Given the description of an element on the screen output the (x, y) to click on. 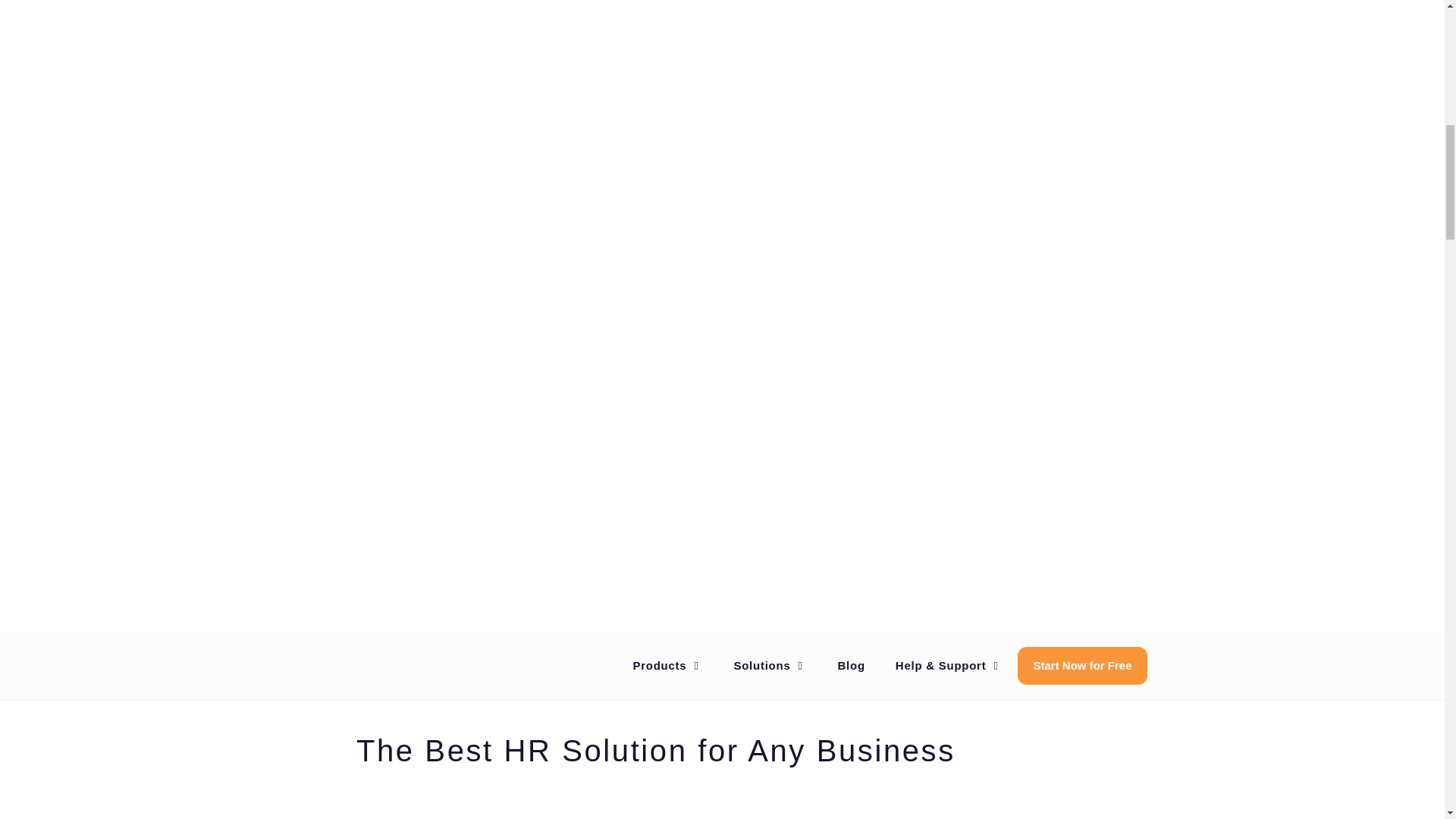
Solutions (769, 664)
Start Now for Free (1082, 664)
Blog (850, 664)
Products (667, 664)
